Given the description of an element on the screen output the (x, y) to click on. 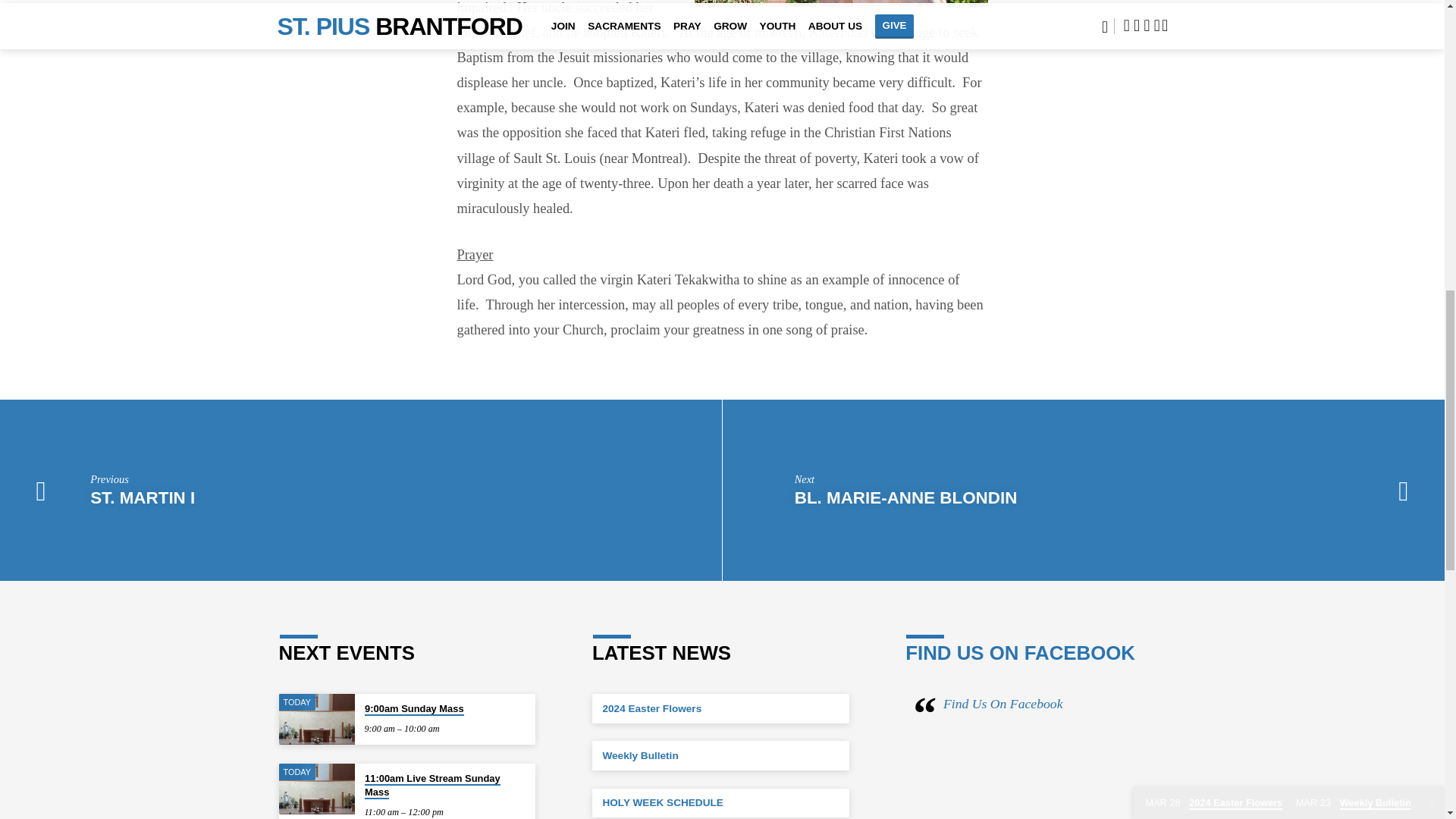
9:00am Sunday Mass (414, 708)
11:00am Live Stream Sunday Mass (317, 788)
9:00am Sunday Mass (317, 718)
11:00am Live Stream Sunday Mass (432, 786)
